Given the description of an element on the screen output the (x, y) to click on. 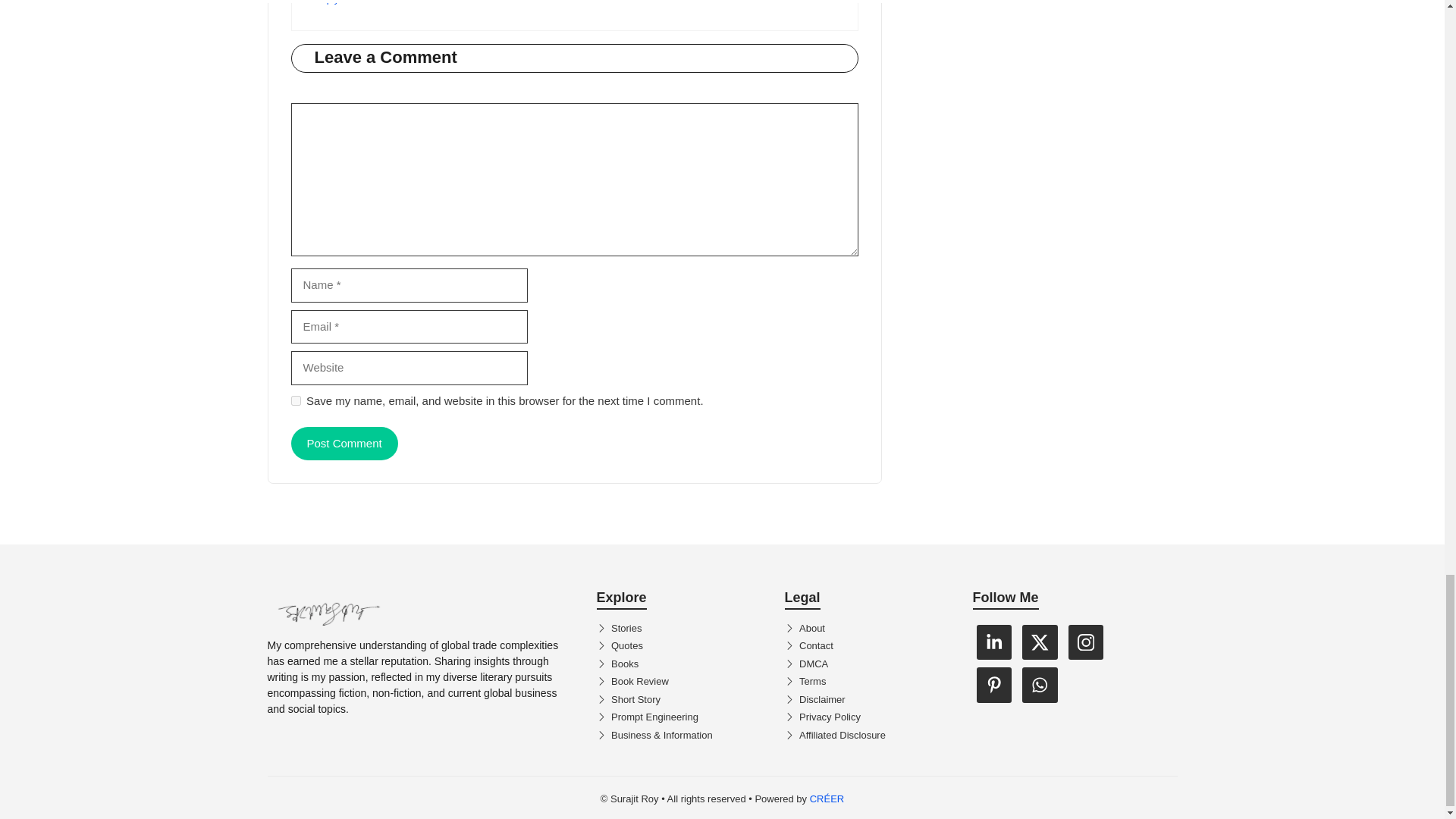
Reply (326, 2)
Surajit-Roy-Logo (327, 609)
yes (296, 400)
Post Comment (344, 442)
Post Comment (344, 442)
